Given the description of an element on the screen output the (x, y) to click on. 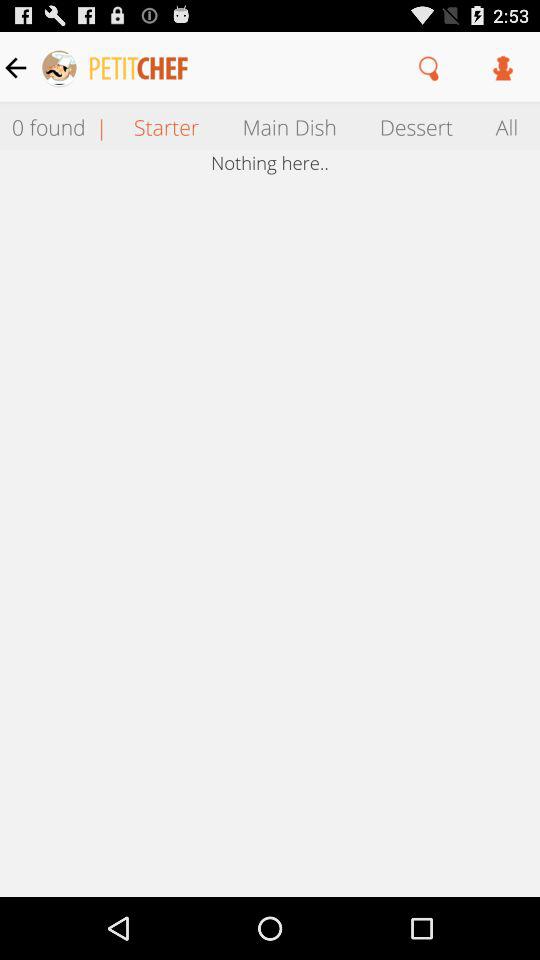
select starter (166, 126)
